Given the description of an element on the screen output the (x, y) to click on. 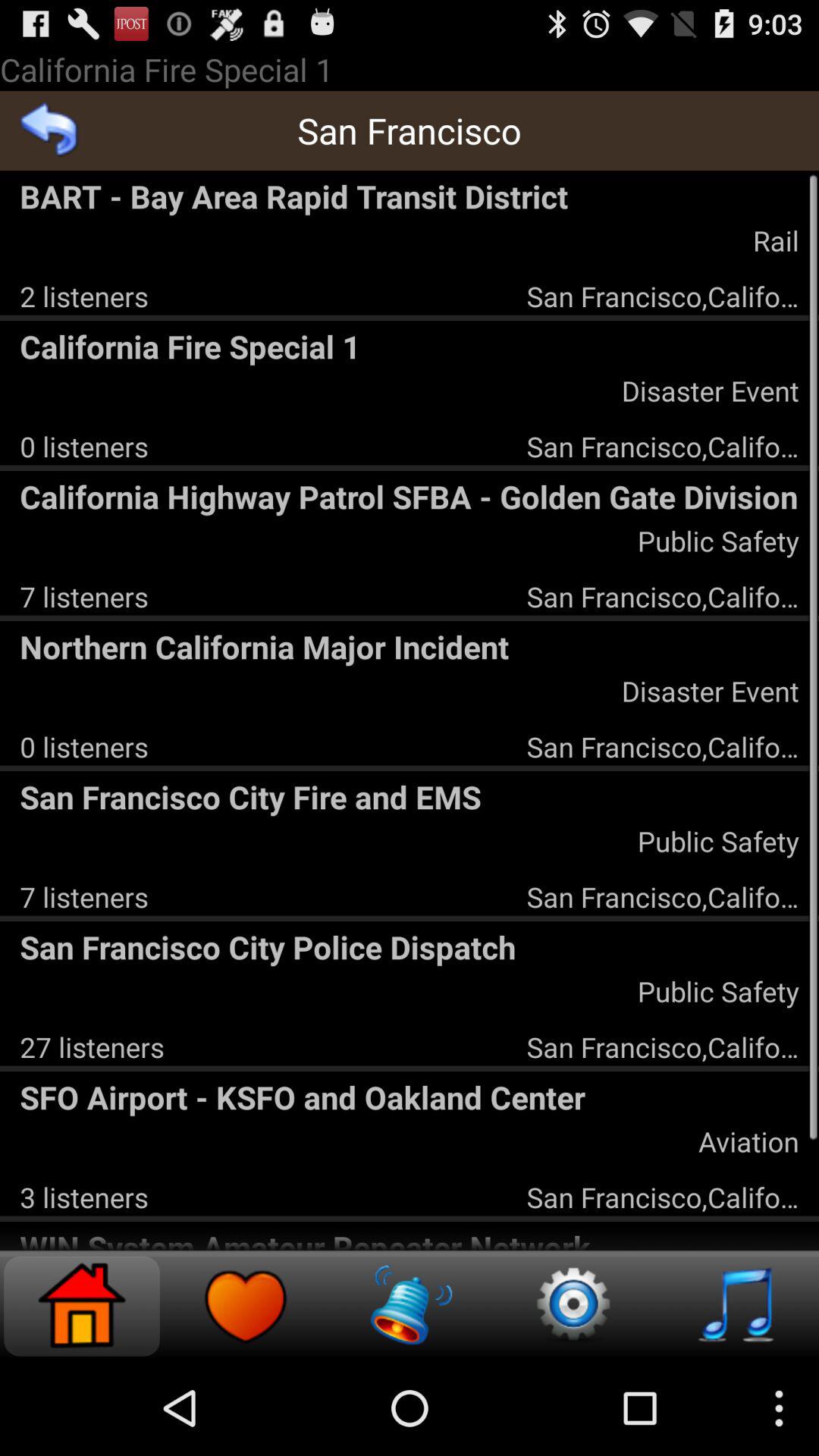
tap app above the bart bay area icon (49, 130)
